Given the description of an element on the screen output the (x, y) to click on. 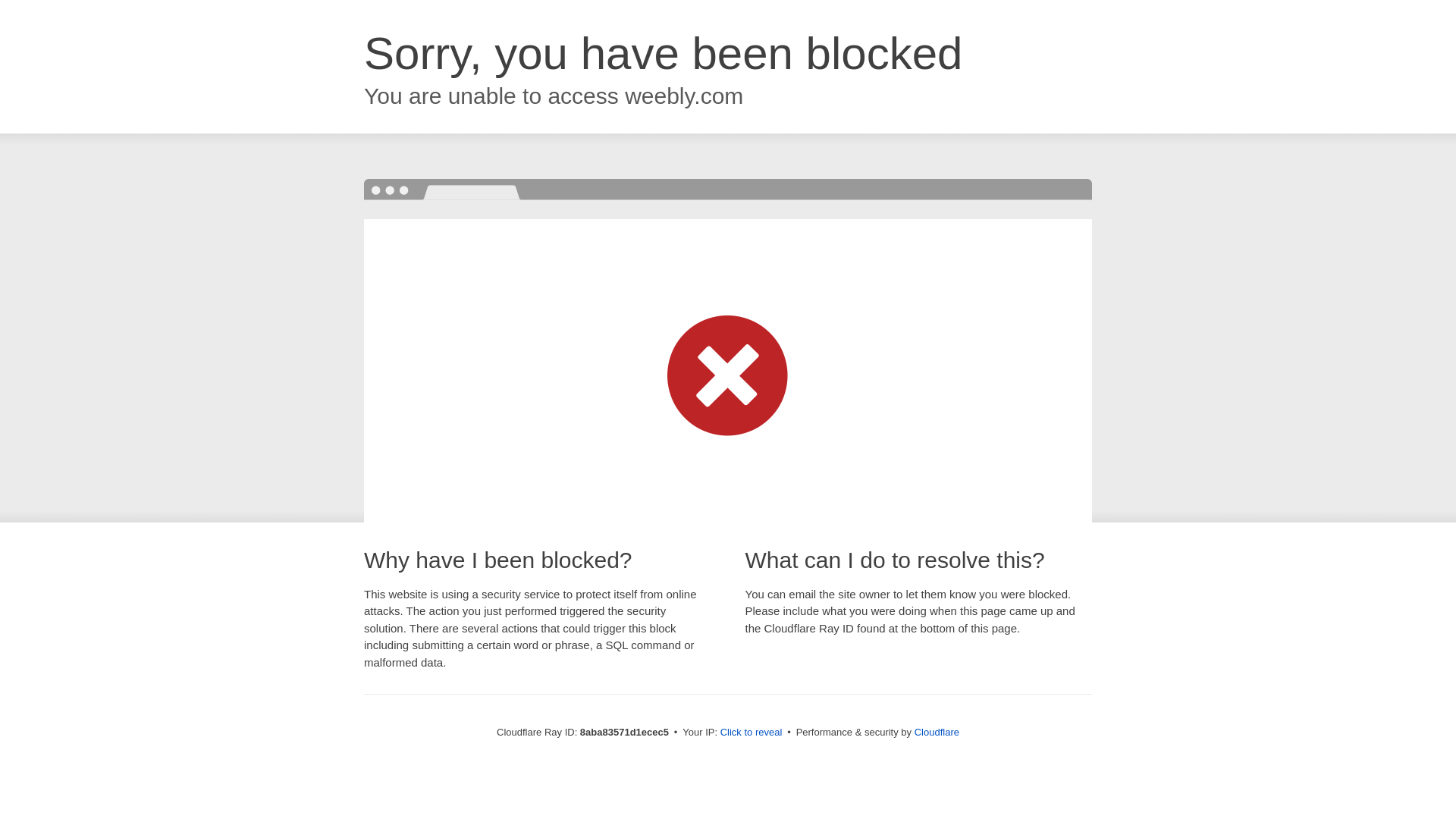
Click to reveal (751, 732)
Cloudflare (936, 731)
